Given the description of an element on the screen output the (x, y) to click on. 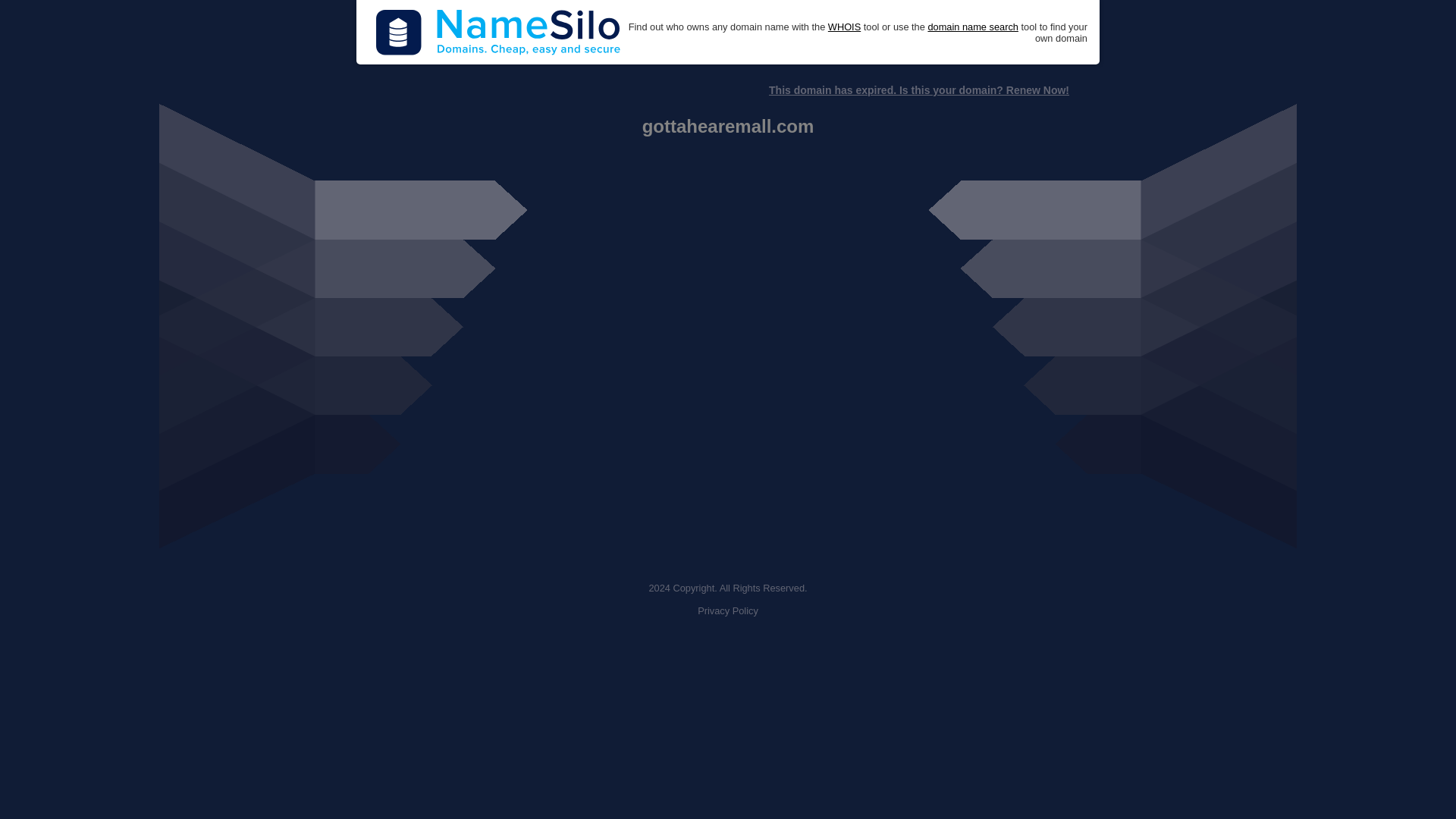
domain name search (972, 26)
This domain has expired. Is this your domain? Renew Now! (918, 90)
Privacy Policy (727, 610)
WHOIS (844, 26)
